Given the description of an element on the screen output the (x, y) to click on. 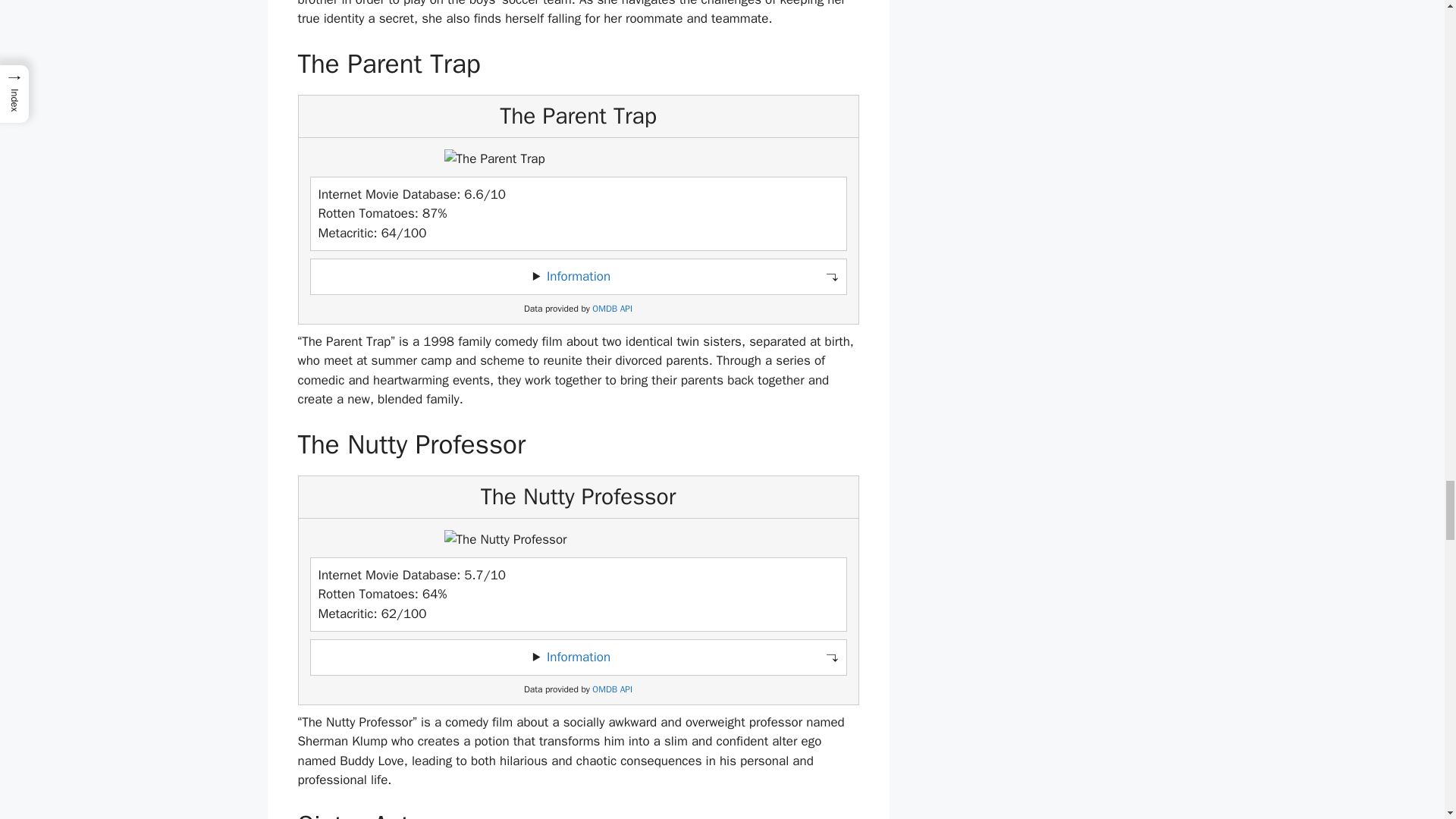
Information (578, 276)
Information (578, 657)
OMDB API (611, 308)
OMDB API (611, 689)
